Given the description of an element on the screen output the (x, y) to click on. 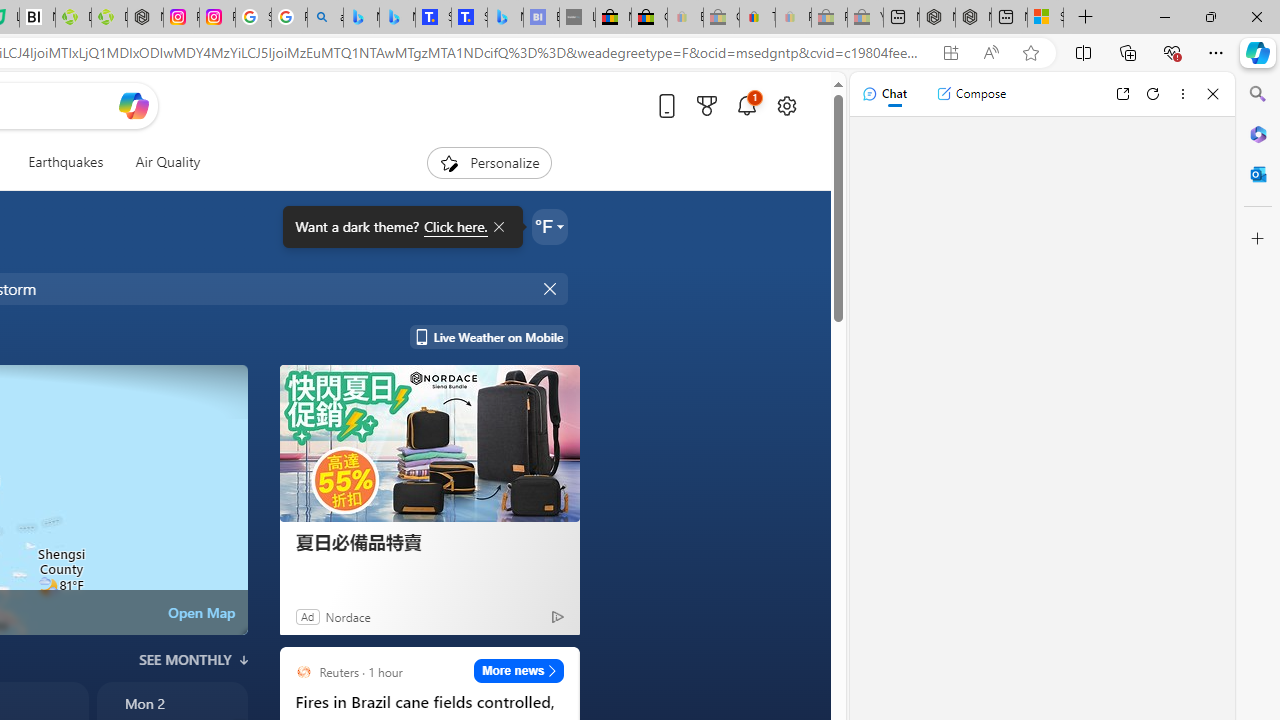
Outlook (1258, 174)
Open Copilot (132, 105)
Hide (551, 288)
Weather settings (549, 226)
Microsoft Bing Travel - Flights from Hong Kong to Bangkok (361, 17)
Threats and offensive language policy | eBay (756, 17)
Class: BubbleMessageCloseIcon-DS-EntryPoint1-1 (497, 227)
Earthquakes (65, 162)
Shangri-La Bangkok, Hotel reviews and Room rates (469, 17)
